Given the description of an element on the screen output the (x, y) to click on. 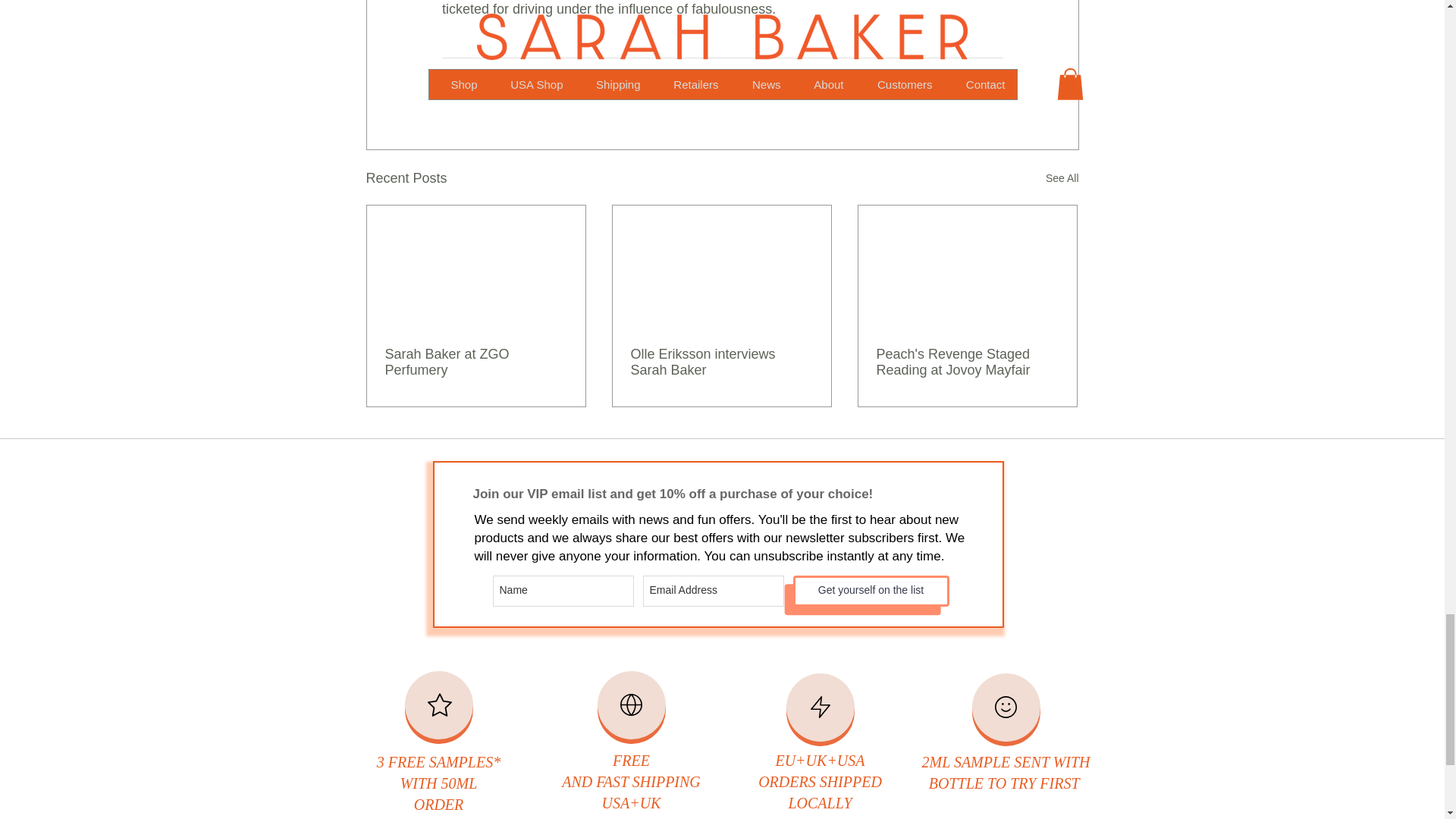
Peach's Revenge Staged Reading at Jovoy Mayfair (967, 362)
Sarah Baker at ZGO Perfumery (476, 362)
Get yourself on the list (871, 590)
See All (1061, 178)
Olle Eriksson interviews Sarah Baker (721, 362)
